Given the description of an element on the screen output the (x, y) to click on. 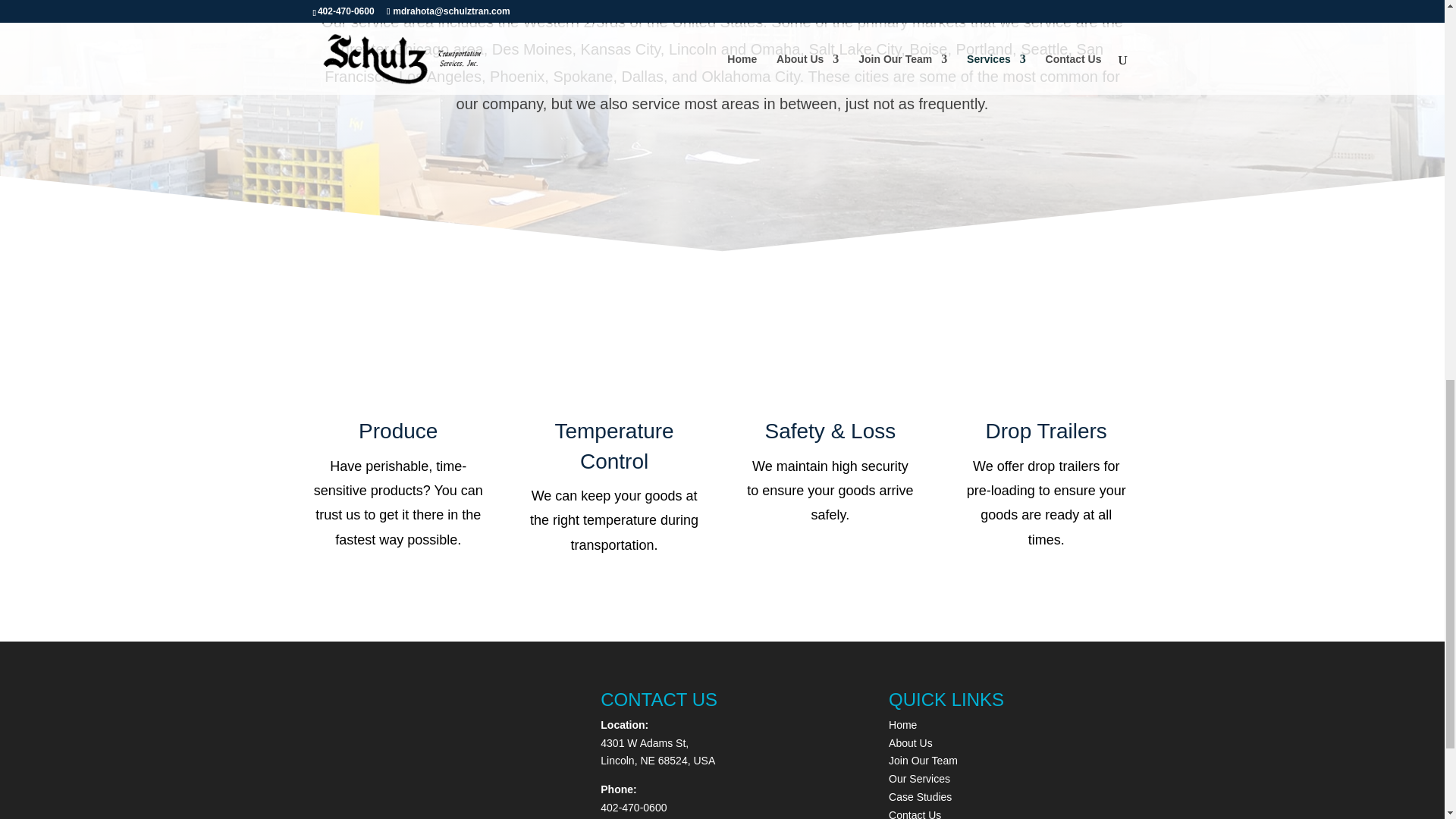
Produce (398, 431)
Temperature Control (613, 445)
